Given the description of an element on the screen output the (x, y) to click on. 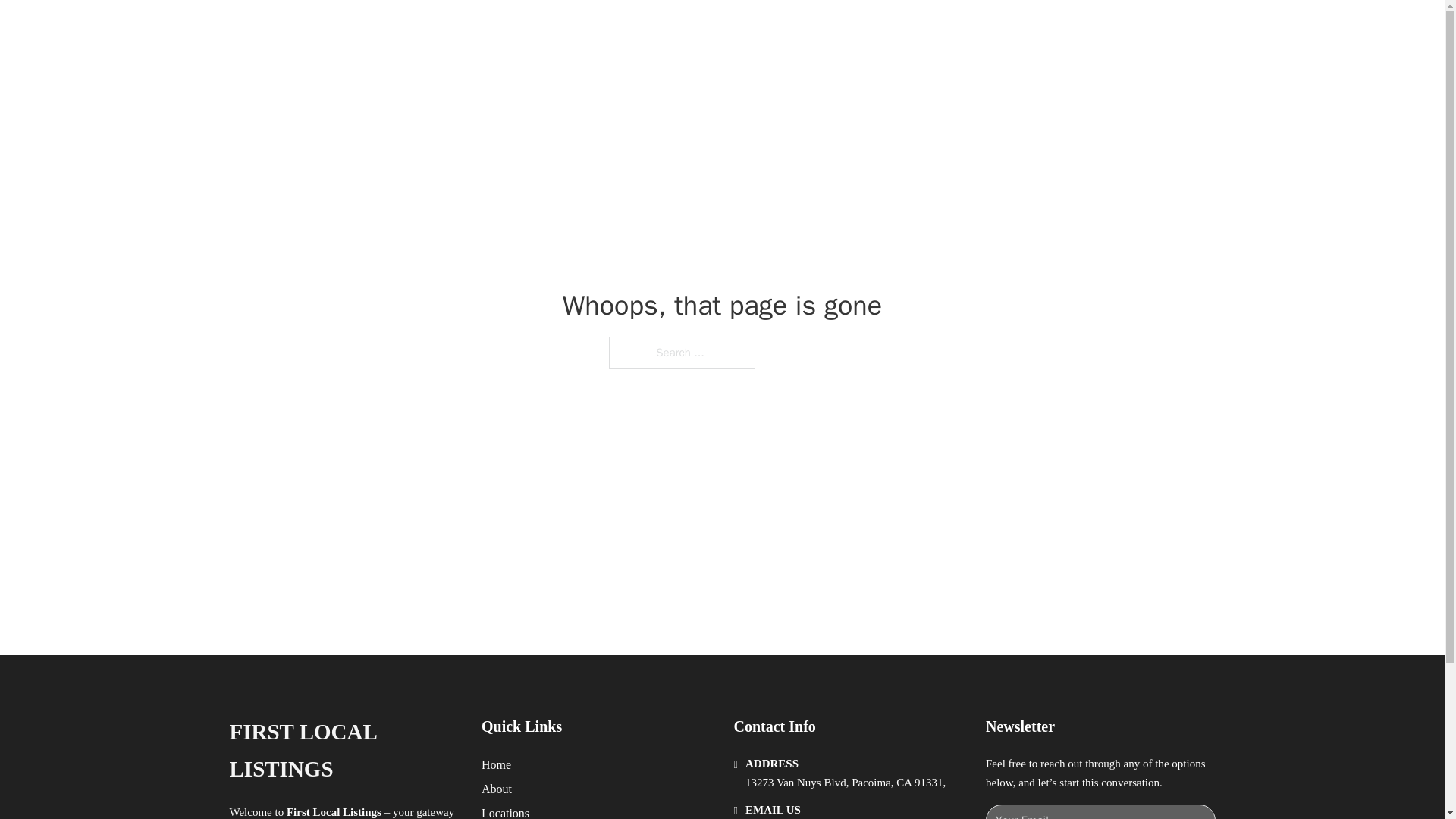
LOCATIONS (990, 29)
Home (496, 764)
About (496, 788)
HOME (919, 29)
FIRST LOCAL LISTINGS (422, 28)
Locations (505, 811)
FIRST LOCAL LISTINGS (343, 750)
